Given the description of an element on the screen output the (x, y) to click on. 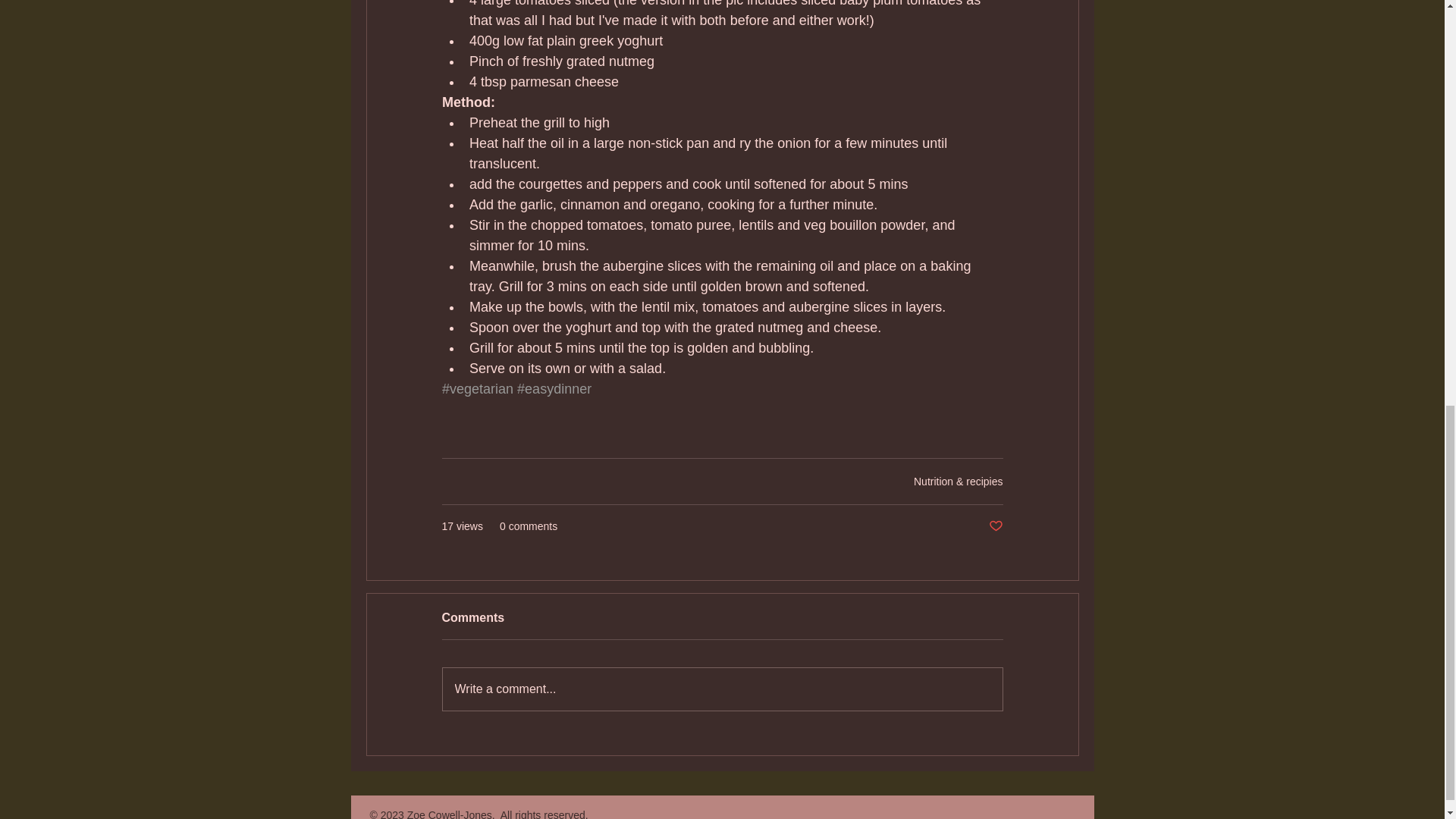
Post not marked as liked (995, 526)
Write a comment... (722, 689)
